Given the description of an element on the screen output the (x, y) to click on. 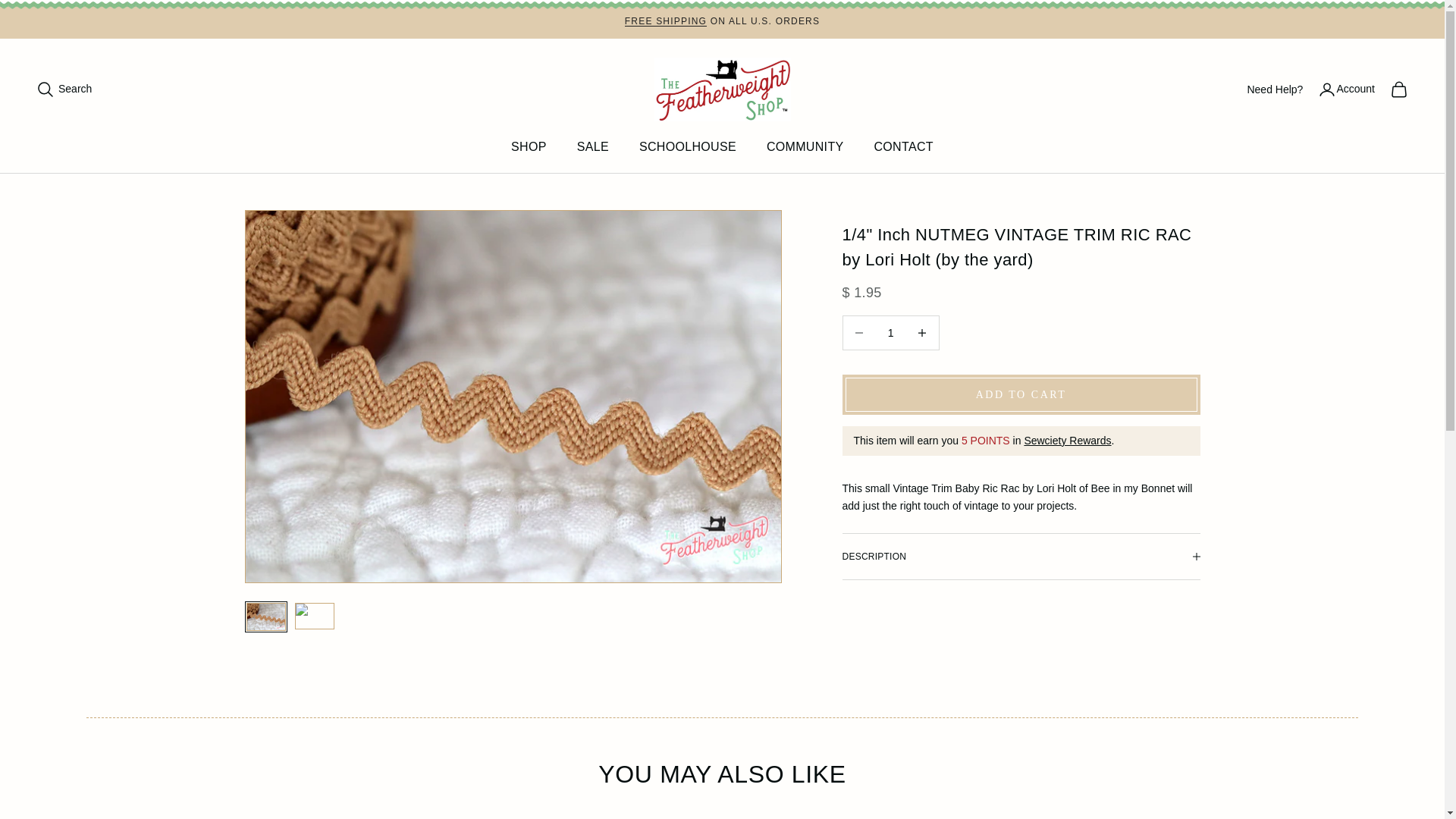
1 (890, 332)
The Singer Featherweight Shop (721, 89)
Shipping, Returns, Policies, etc. (665, 20)
FREE SHIPPING (665, 20)
